Given the description of an element on the screen output the (x, y) to click on. 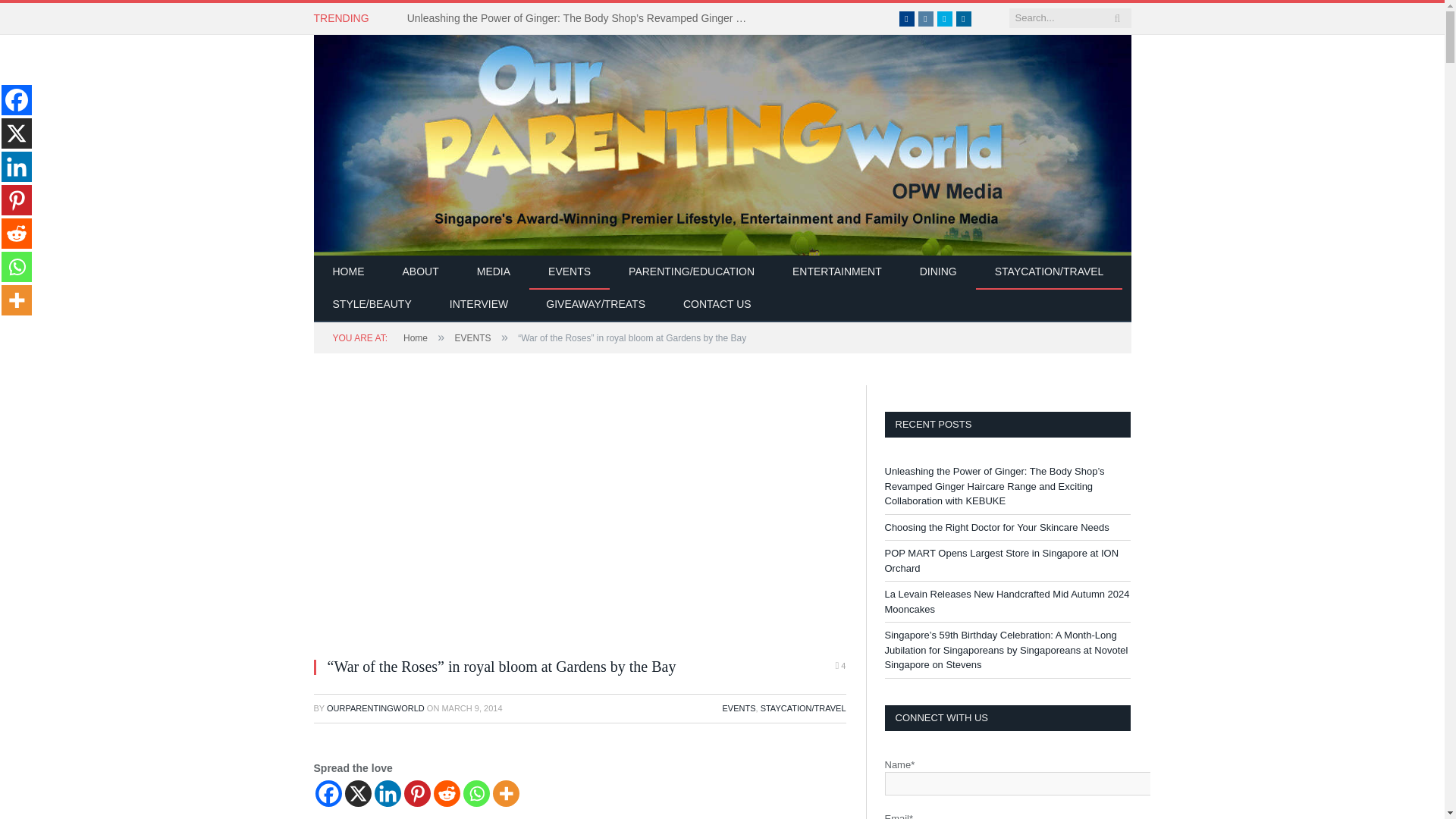
Instagram (925, 18)
linkedin (963, 18)
Twitter (944, 18)
MEDIA (493, 272)
Home (415, 337)
linkedin (963, 18)
DINING (938, 272)
Facebook (906, 18)
ENTERTAINMENT (837, 272)
Facebook (906, 18)
Instagram (925, 18)
Twitter (944, 18)
CONTACT US (716, 305)
ABOUT (421, 272)
EVENTS (569, 272)
